Given the description of an element on the screen output the (x, y) to click on. 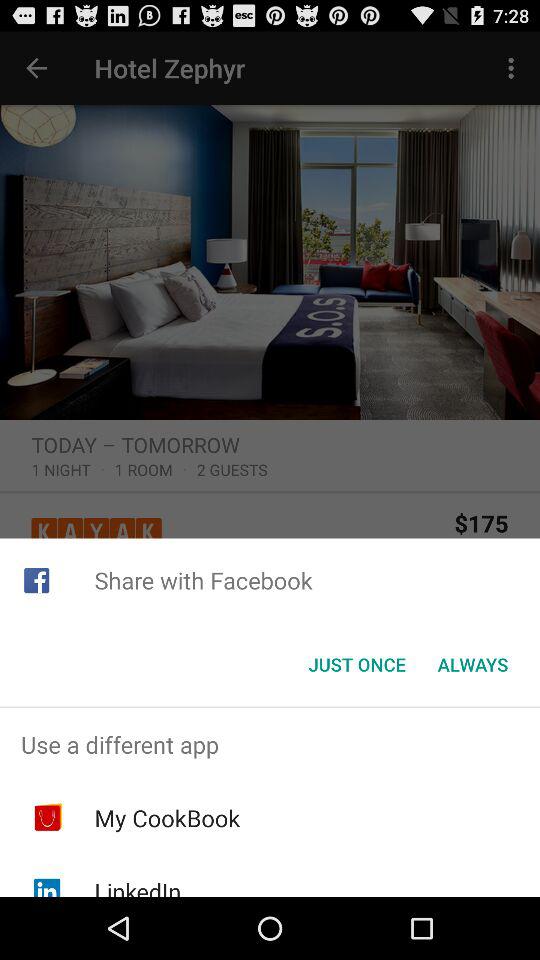
select the linkedin (137, 885)
